Given the description of an element on the screen output the (x, y) to click on. 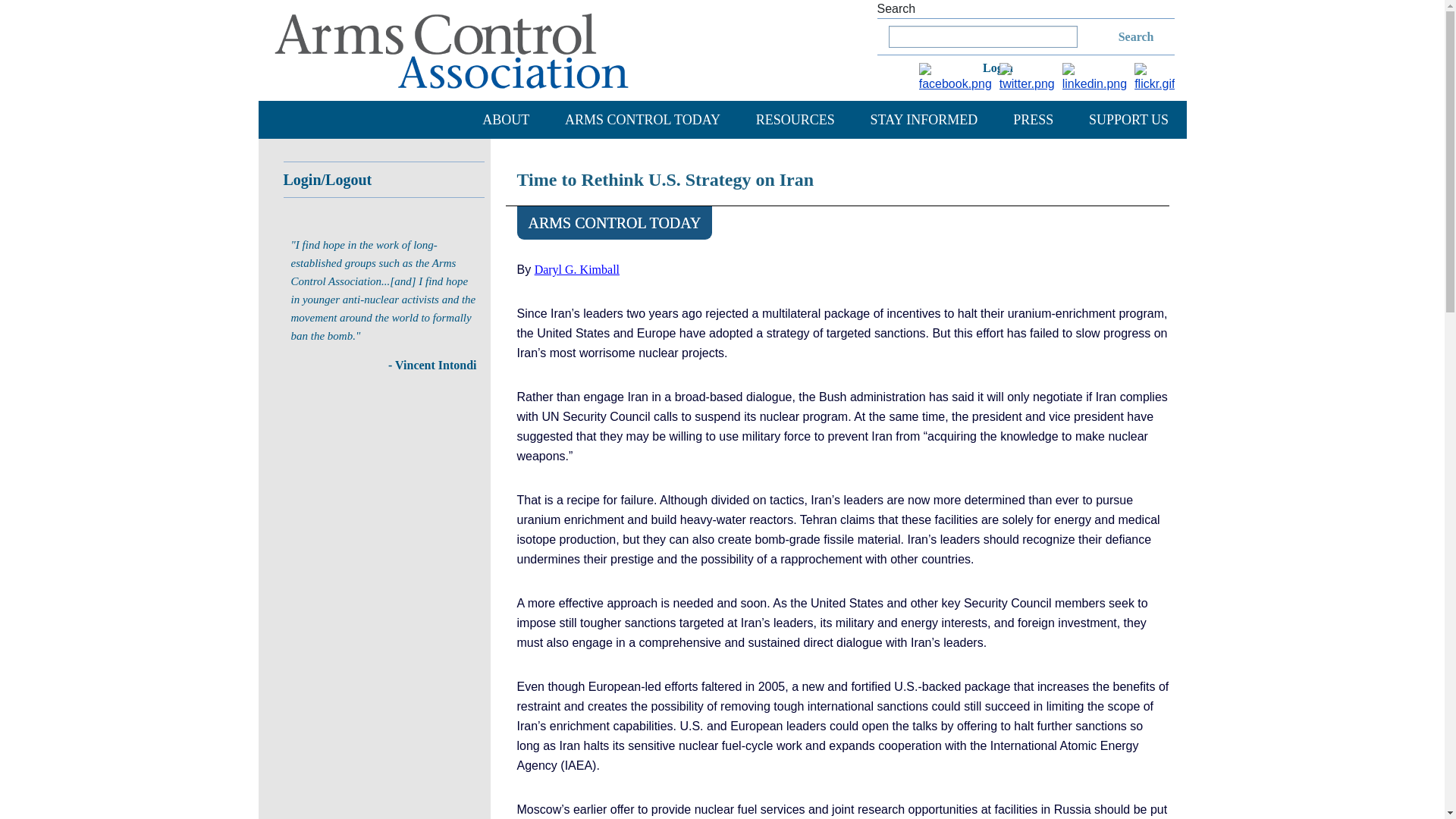
ABOUT (505, 119)
STAY INFORMED (923, 119)
Log in (1004, 65)
Search (1117, 36)
RESOURCES (794, 119)
ARMS CONTROL TODAY (642, 119)
Enter the terms you wish to search for. (982, 36)
Home (451, 50)
